Given the description of an element on the screen output the (x, y) to click on. 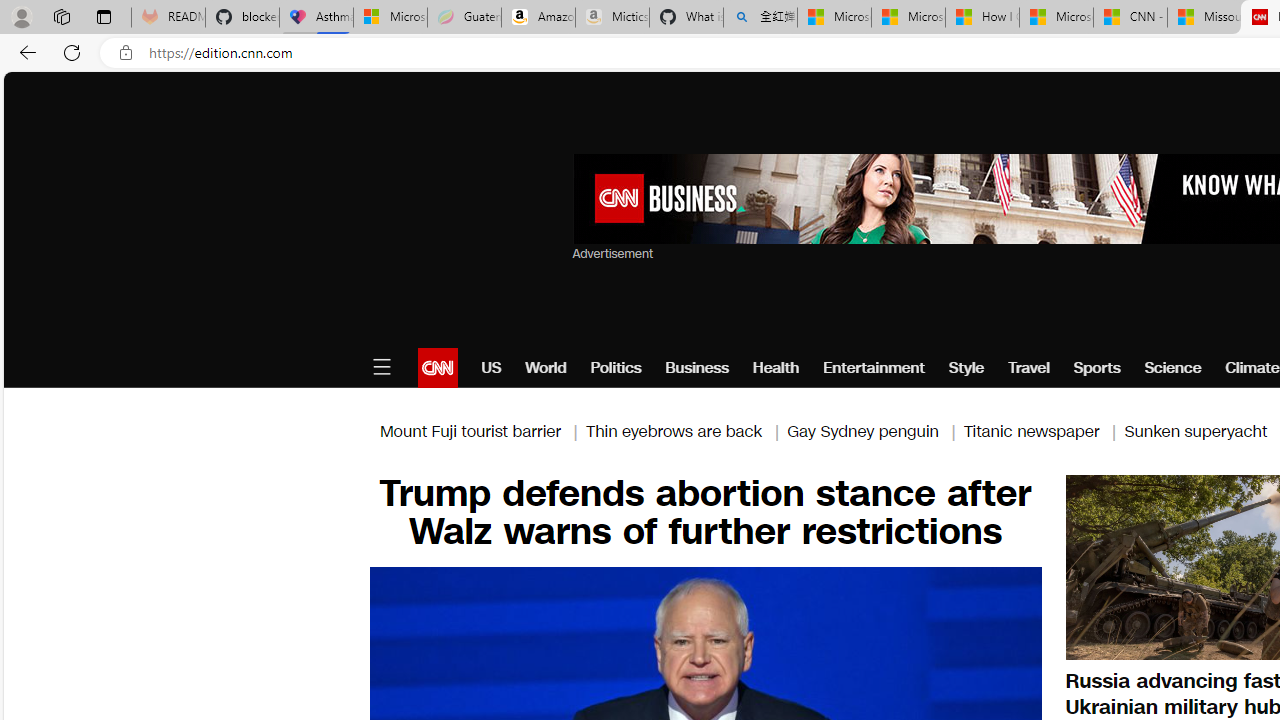
US (491, 367)
Gay Sydney penguin | (875, 430)
Business (697, 367)
Asthma Inhalers: Names and Types (316, 17)
Science (1172, 367)
Titanic newspaper | (1043, 430)
Entertainment (874, 367)
How I Got Rid of Microsoft Edge's Unnecessary Features (981, 17)
